Given the description of an element on the screen output the (x, y) to click on. 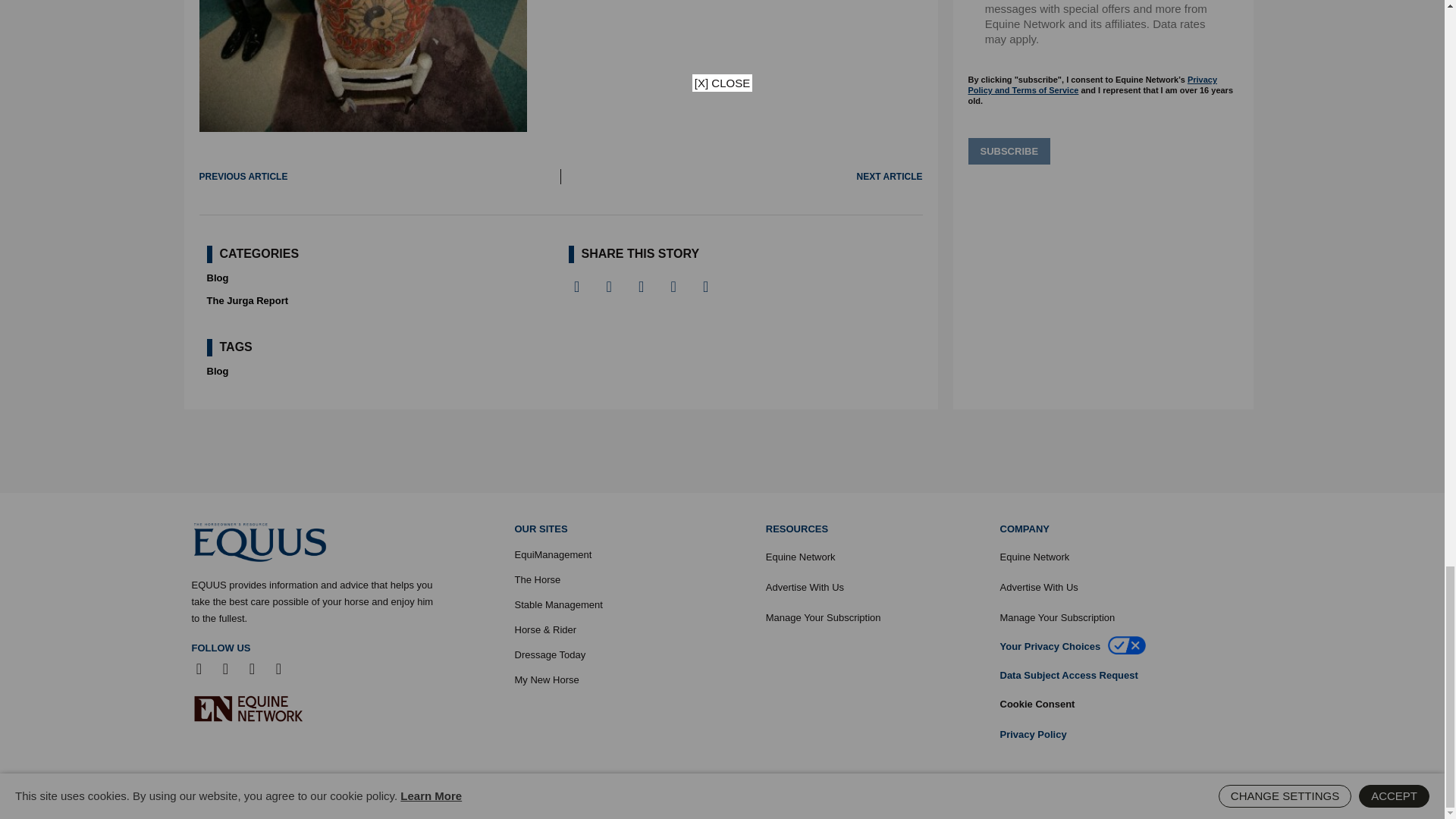
Subscribe (1008, 151)
3rd party ad content (721, 450)
